Given the description of an element on the screen output the (x, y) to click on. 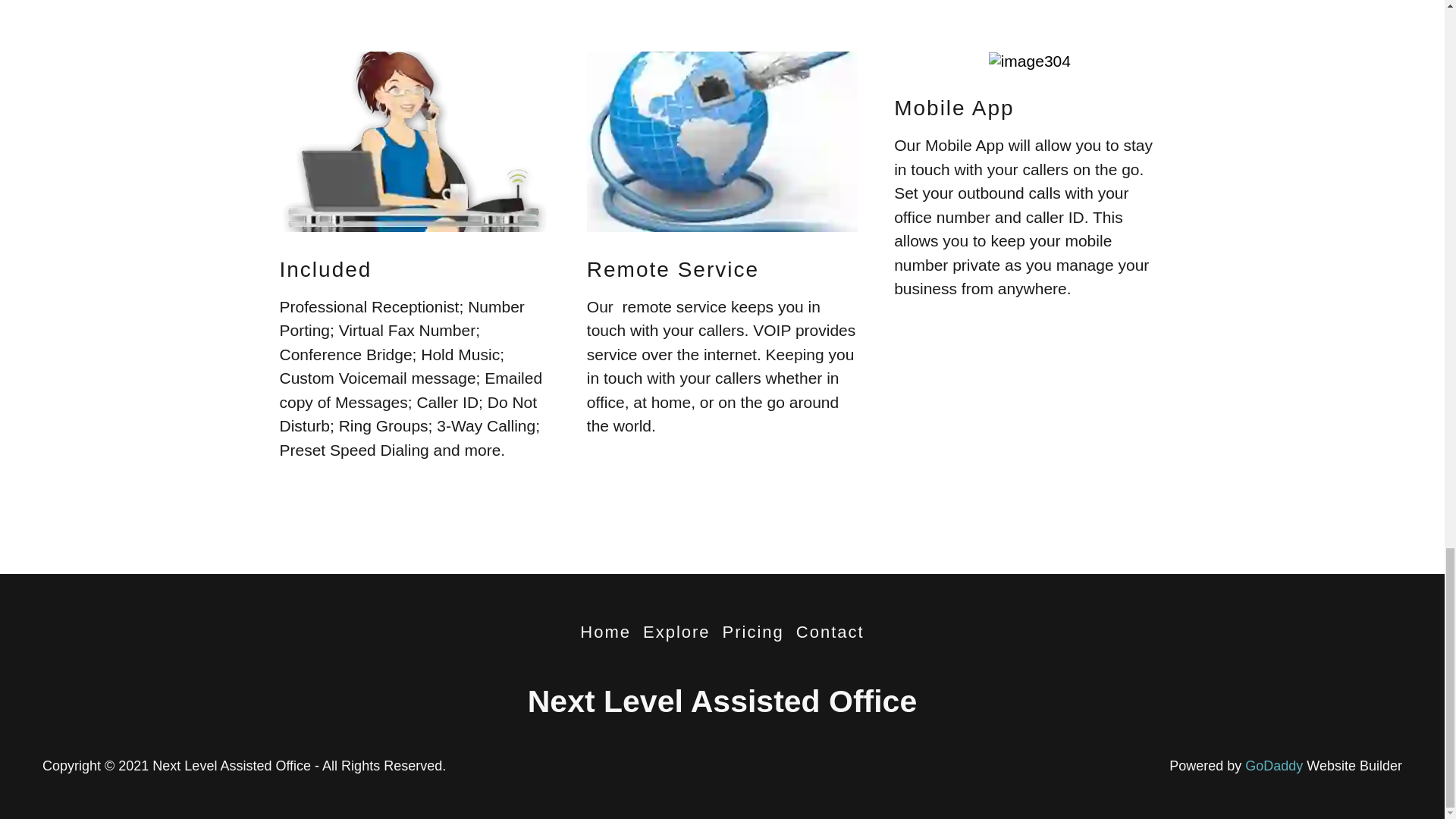
Contact (830, 632)
Home (605, 632)
Pricing (753, 632)
GoDaddy (1273, 765)
Explore (676, 632)
